Given the description of an element on the screen output the (x, y) to click on. 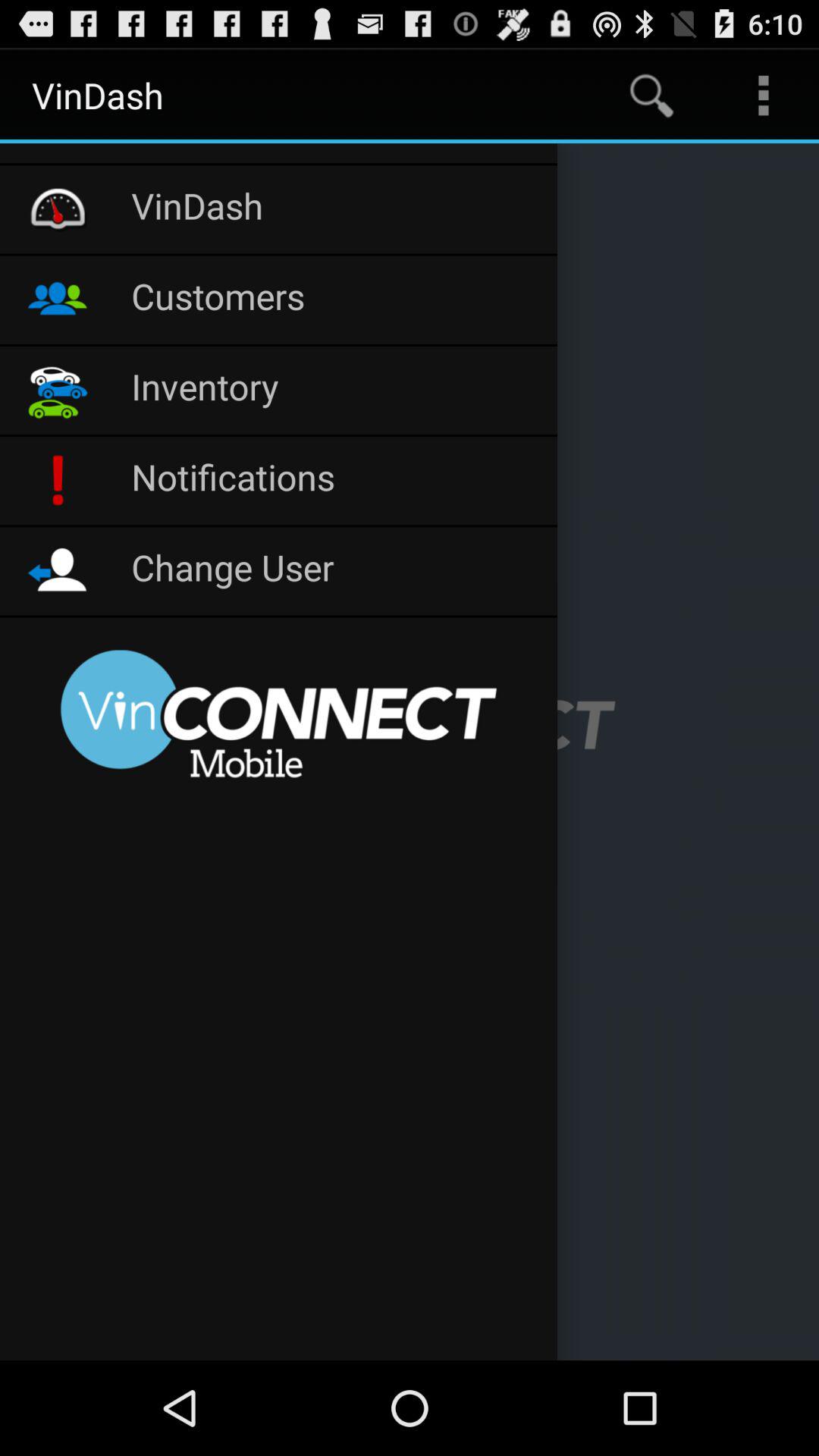
select the notifications (336, 480)
